Given the description of an element on the screen output the (x, y) to click on. 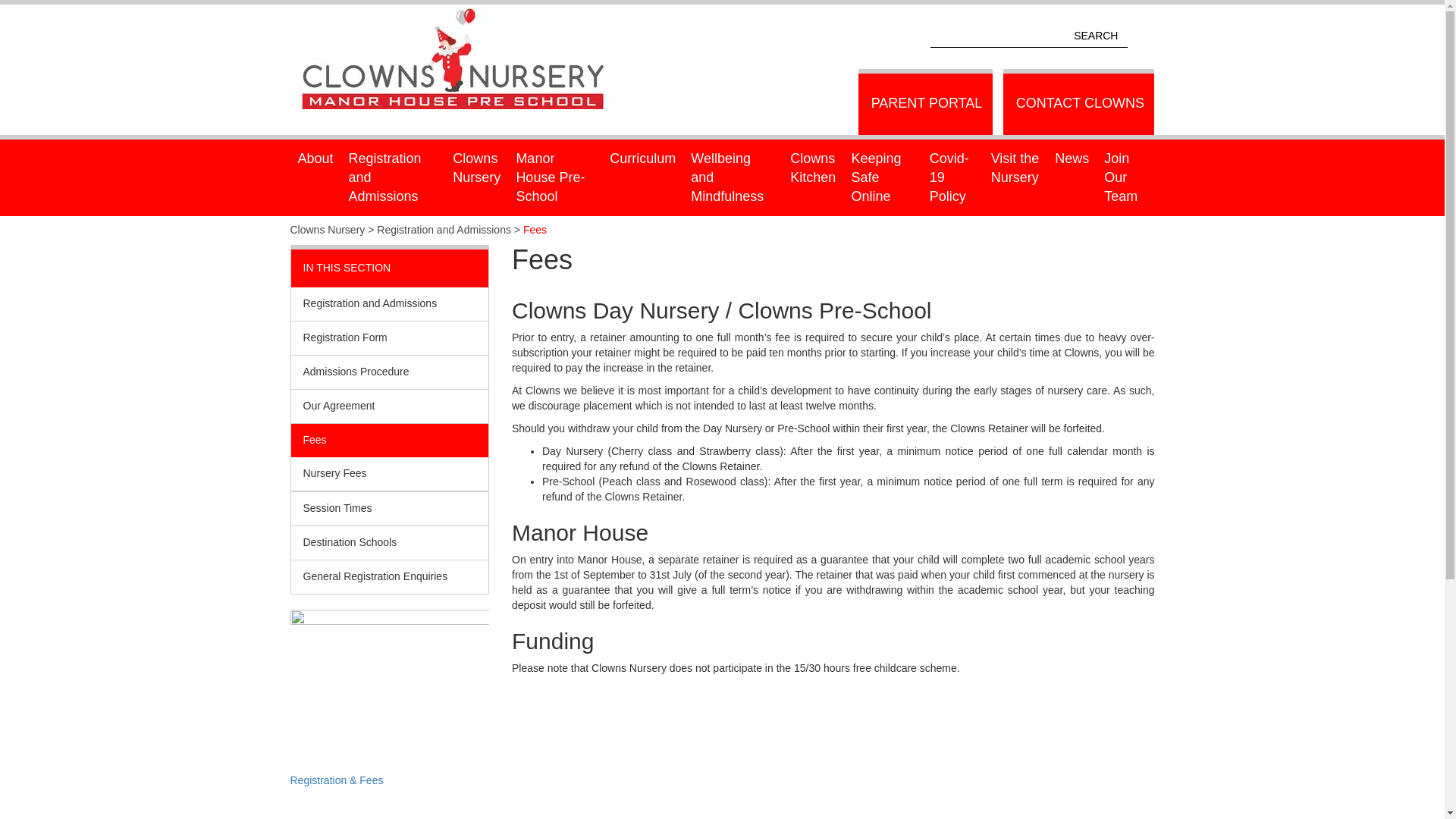
About (314, 158)
Curriculum (642, 158)
Go to Clowns Nursery. (327, 229)
Registration and Admissions (392, 177)
Clowns Nursery (476, 168)
CONTACT CLOWNS (1078, 101)
Go to Registration and Admissions. (444, 229)
Search (1142, 36)
PARENT PORTAL (925, 101)
Search (1142, 36)
Clowns Nursery (460, 10)
Manor House Pre-School (555, 177)
